Given the description of an element on the screen output the (x, y) to click on. 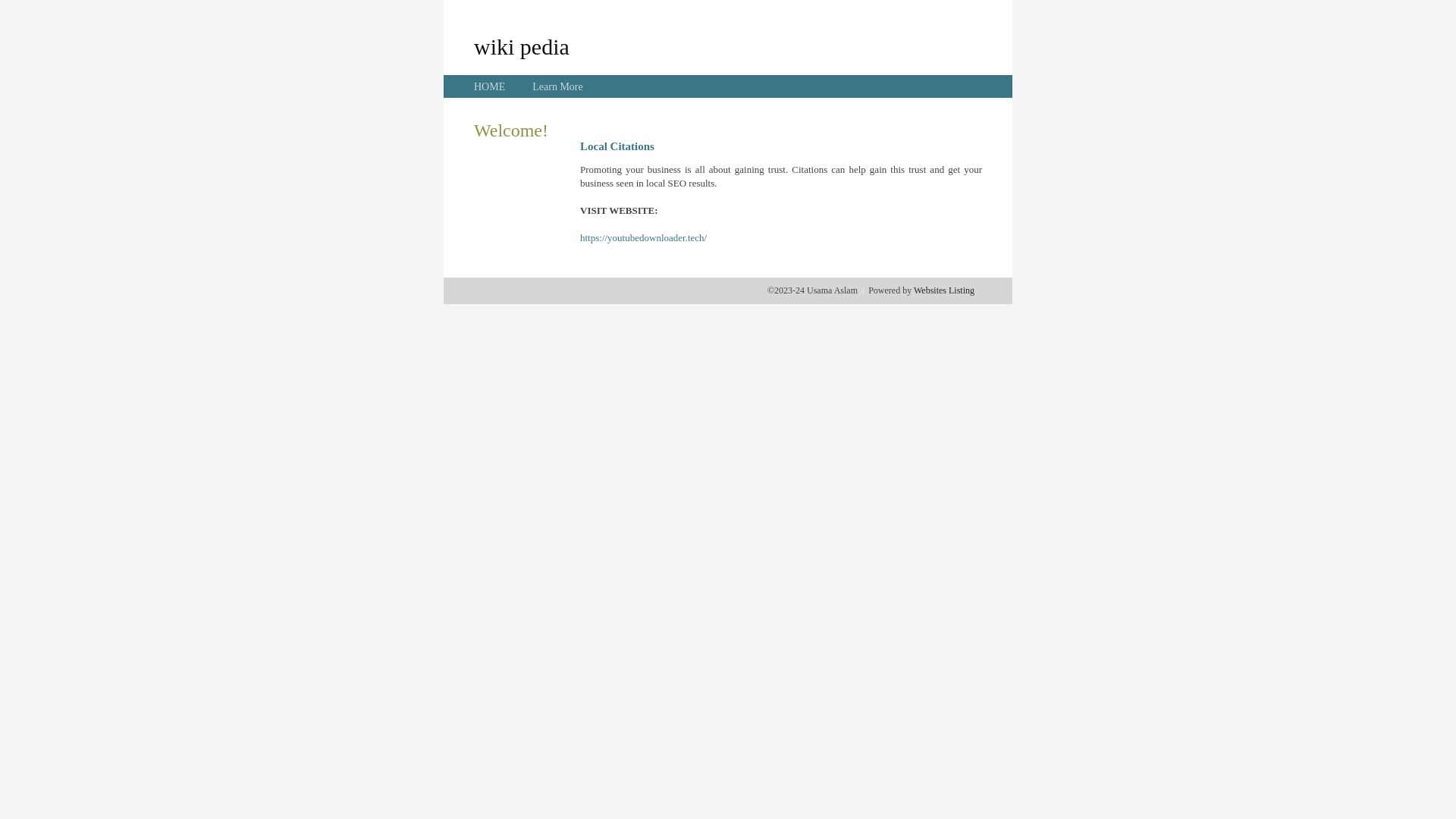
Websites Listing Element type: text (943, 290)
HOME Element type: text (489, 86)
Learn More Element type: text (557, 86)
wiki pedia Element type: text (521, 46)
https://youtubedownloader.tech/ Element type: text (643, 237)
